Given the description of an element on the screen output the (x, y) to click on. 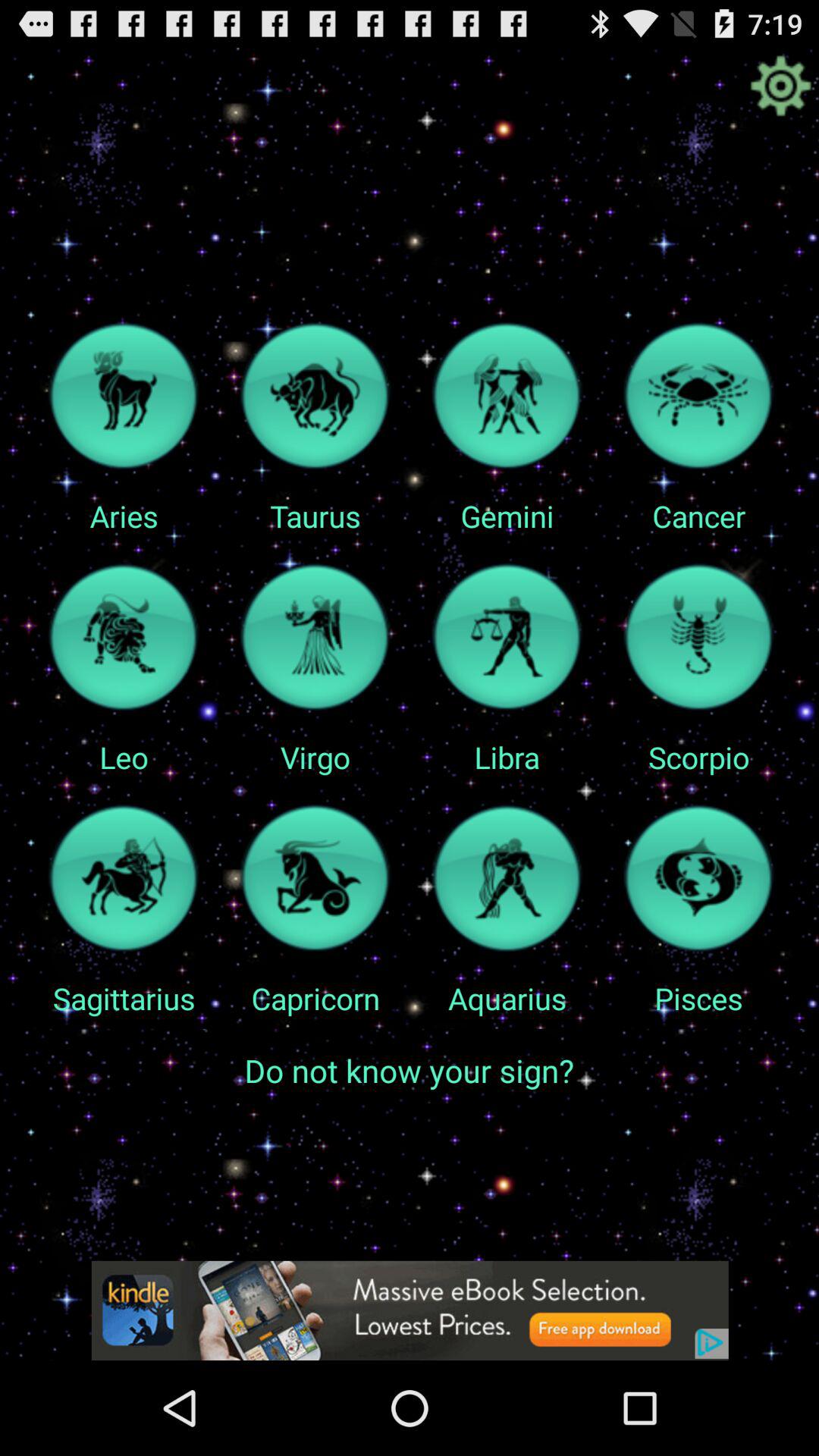
settings option (780, 85)
